Given the description of an element on the screen output the (x, y) to click on. 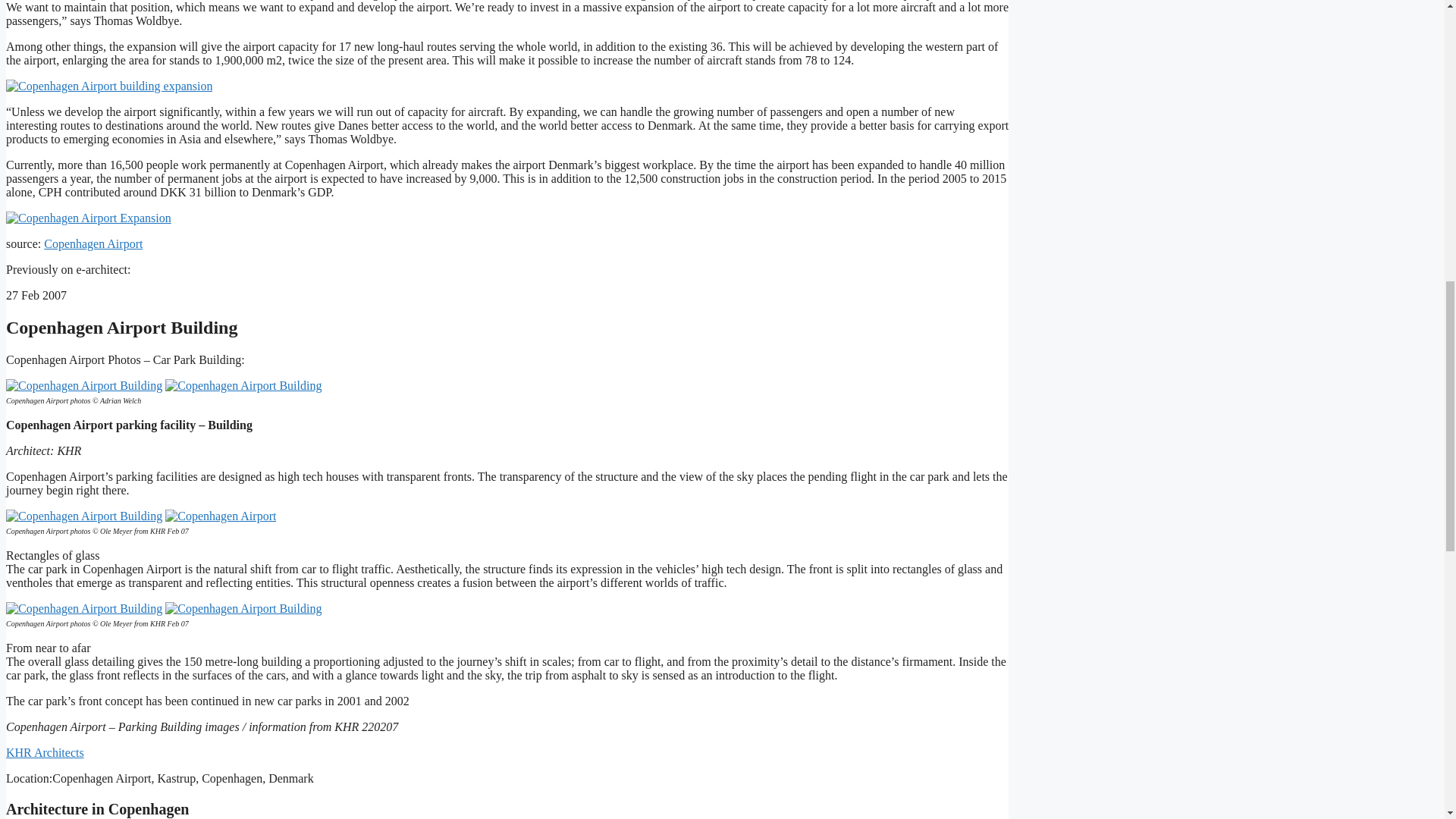
Scroll back to top (1406, 720)
Copenhagen Airport (92, 243)
KHR Architects (44, 752)
